Given the description of an element on the screen output the (x, y) to click on. 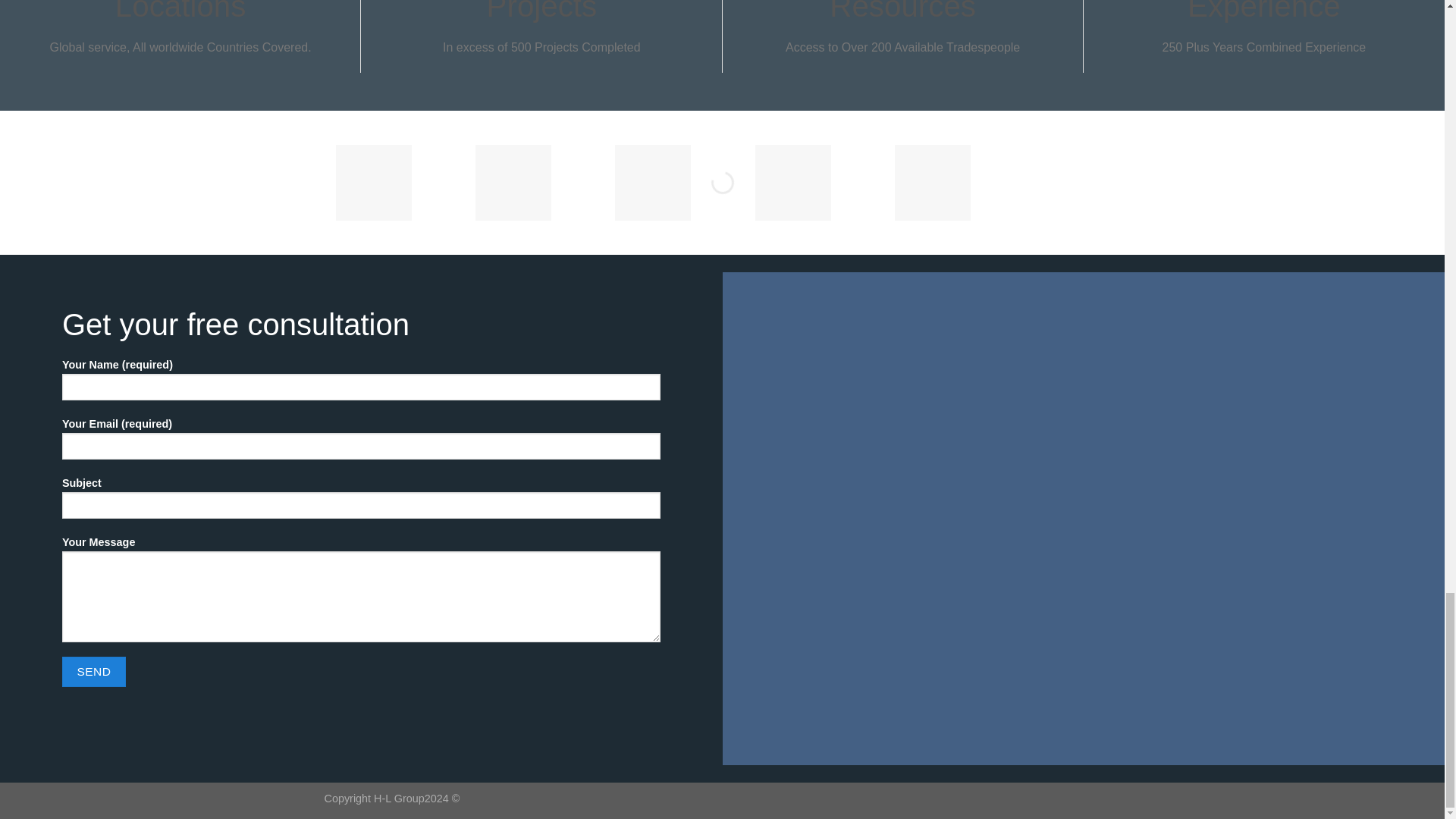
Send (93, 671)
Send (93, 671)
